Given the description of an element on the screen output the (x, y) to click on. 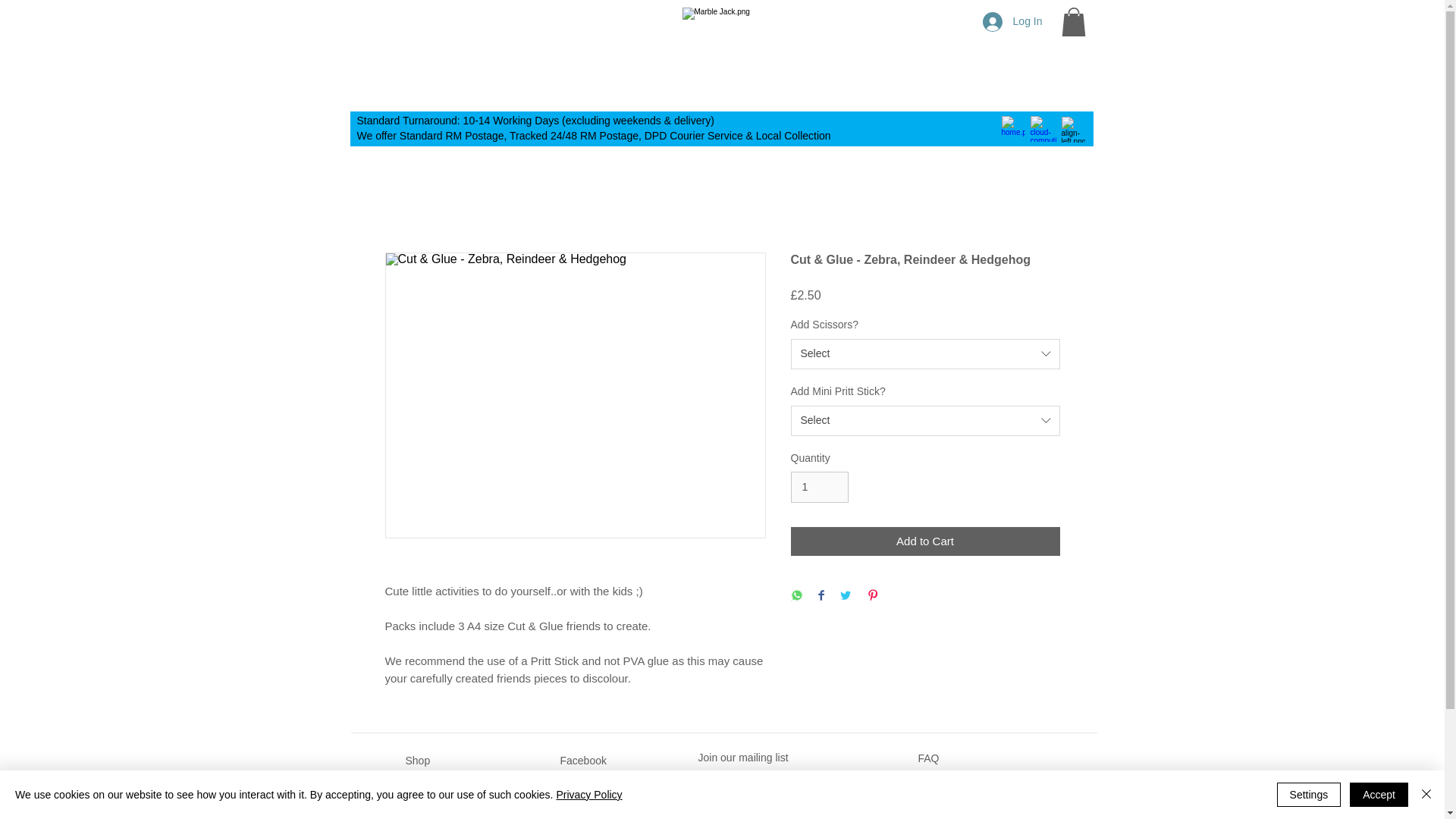
Accept (1378, 794)
Log In (1012, 21)
FAQ (928, 758)
Instagram (583, 786)
Select (924, 354)
Email (572, 811)
Store Policy (945, 808)
Add to Cart (924, 541)
Shop (416, 760)
Subscribe Now (778, 817)
1 (818, 486)
About Us (426, 786)
Privacy Policy (588, 794)
Select (924, 420)
Facebook (582, 760)
